Given the description of an element on the screen output the (x, y) to click on. 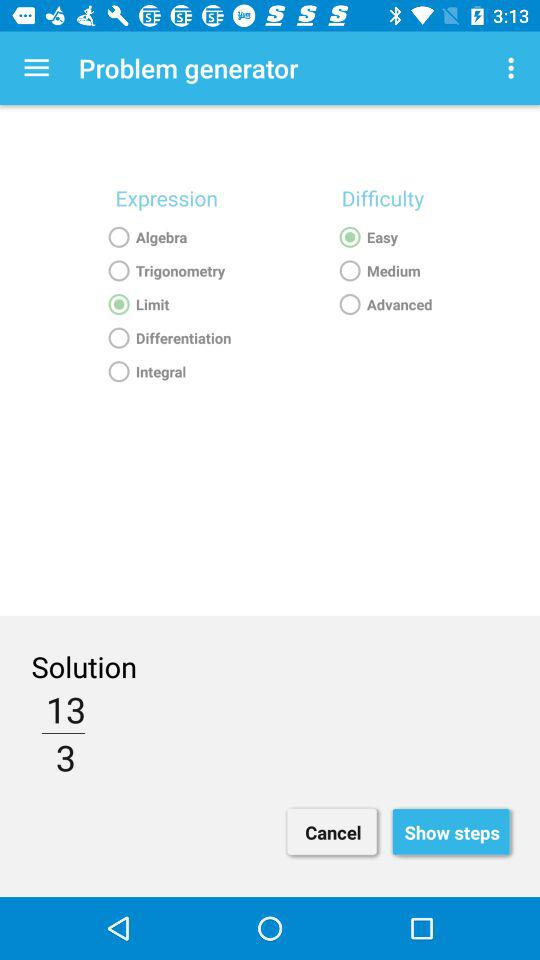
click on integral along with the radio button beside it (166, 371)
select the text limit along with the radio button left to it (166, 304)
select the text above limit (166, 271)
